Given the description of an element on the screen output the (x, y) to click on. 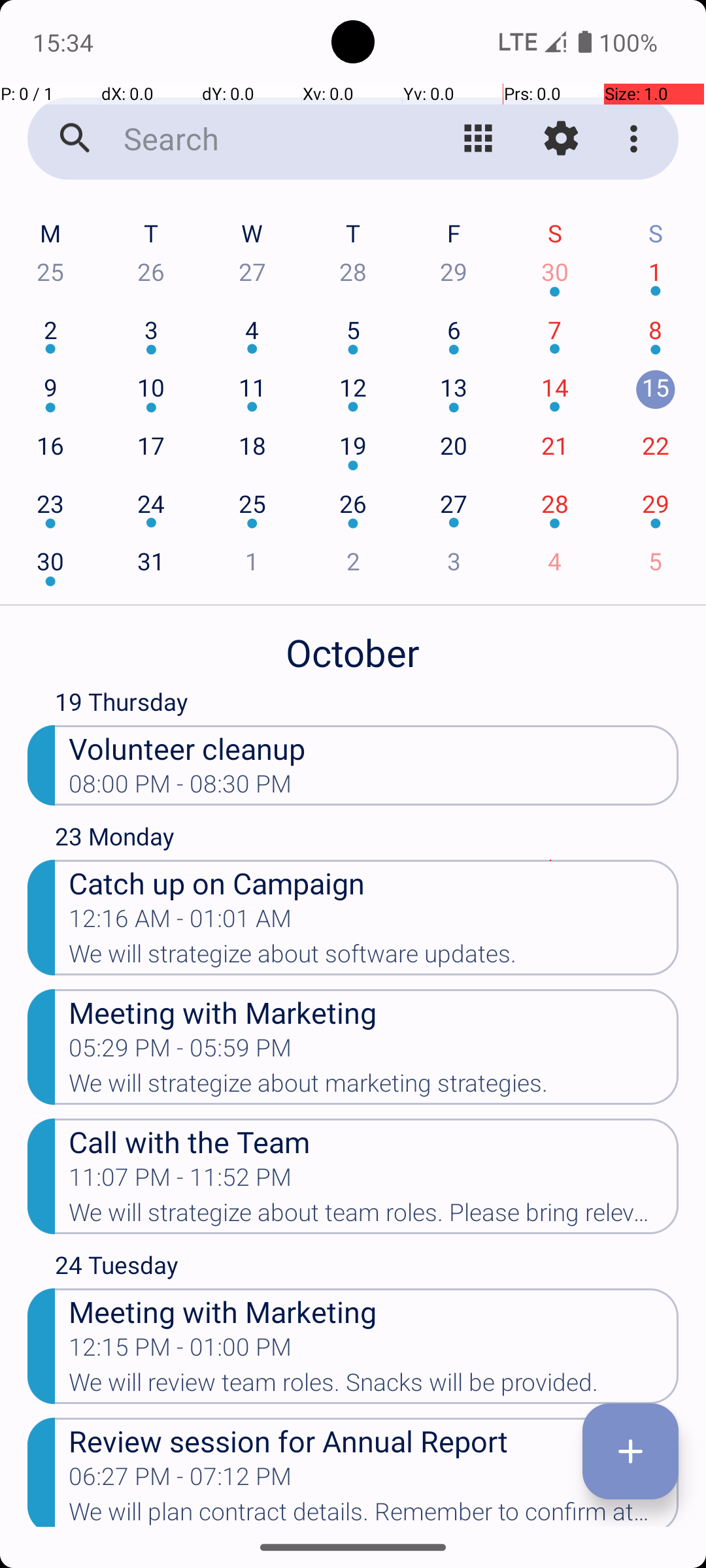
24 Tuesday Element type: android.widget.TextView (366, 1267)
Volunteer cleanup Element type: android.widget.TextView (373, 747)
08:00 PM - 08:30 PM Element type: android.widget.TextView (179, 787)
12:16 AM - 01:01 AM Element type: android.widget.TextView (179, 922)
We will strategize about software updates. Element type: android.widget.TextView (373, 957)
05:29 PM - 05:59 PM Element type: android.widget.TextView (179, 1051)
We will strategize about marketing strategies. Element type: android.widget.TextView (373, 1086)
11:07 PM - 11:52 PM Element type: android.widget.TextView (179, 1180)
We will strategize about team roles. Please bring relevant documents. Element type: android.widget.TextView (373, 1216)
12:15 PM - 01:00 PM Element type: android.widget.TextView (179, 1350)
We will review team roles. Snacks will be provided. Element type: android.widget.TextView (373, 1386)
06:27 PM - 07:12 PM Element type: android.widget.TextView (179, 1480)
We will plan contract details. Remember to confirm attendance. Element type: android.widget.TextView (373, 1512)
